Given the description of an element on the screen output the (x, y) to click on. 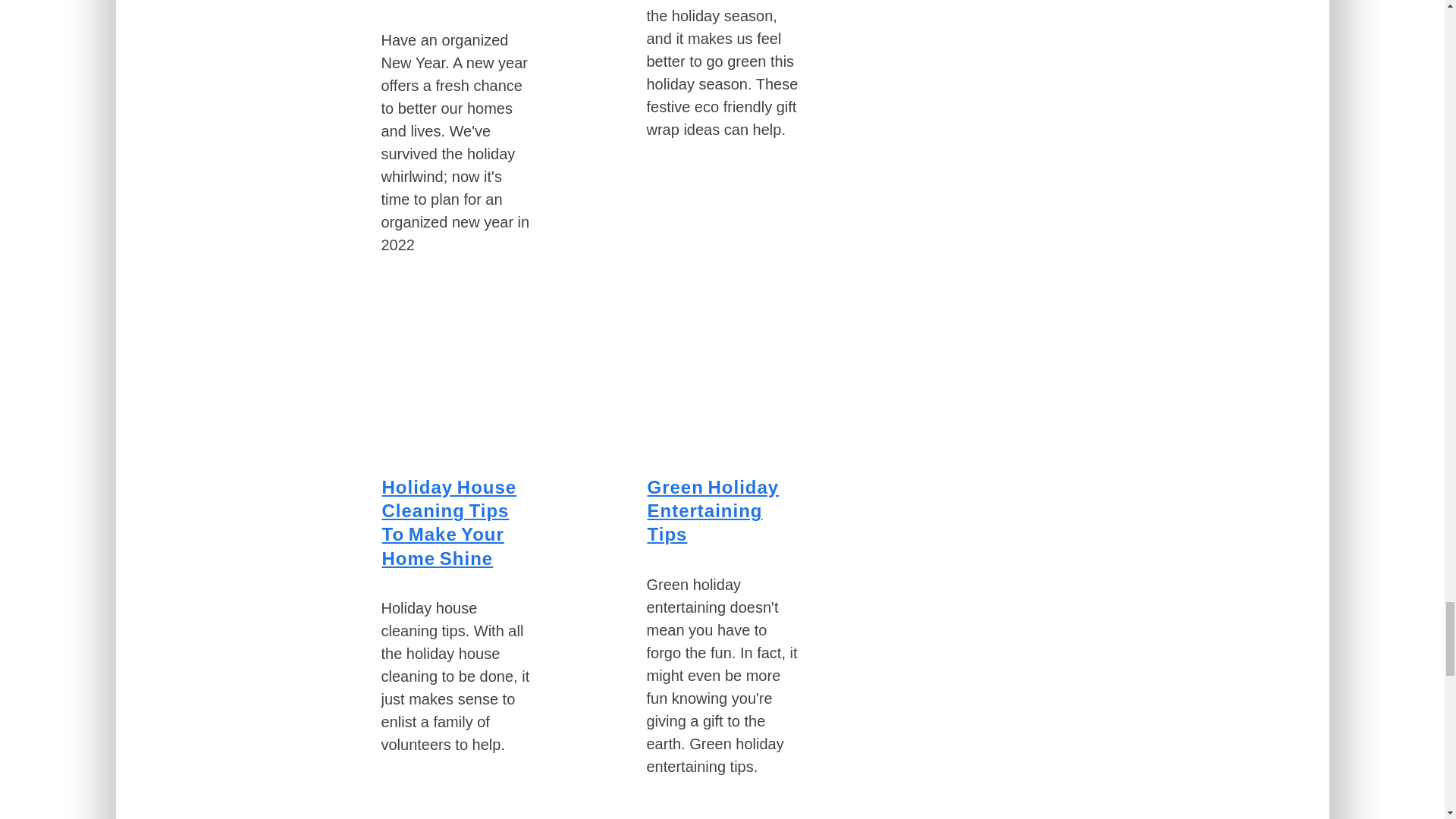
Holiday House Cleaning Tips To Make Your Home Shine (448, 522)
Green Holiday Entertaining Tips (712, 510)
